Given the description of an element on the screen output the (x, y) to click on. 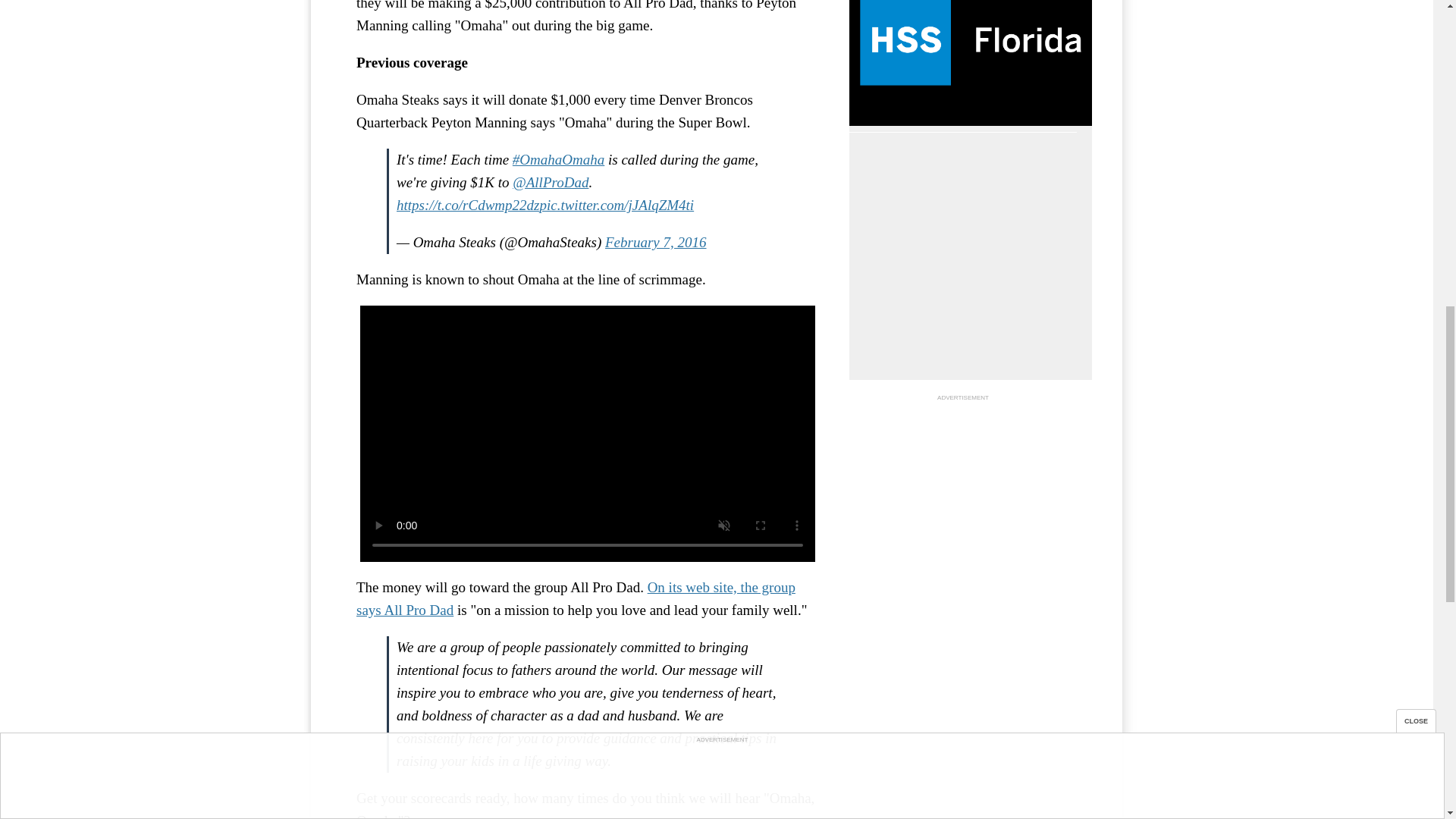
3rd party ad content (962, 499)
